Given the description of an element on the screen output the (x, y) to click on. 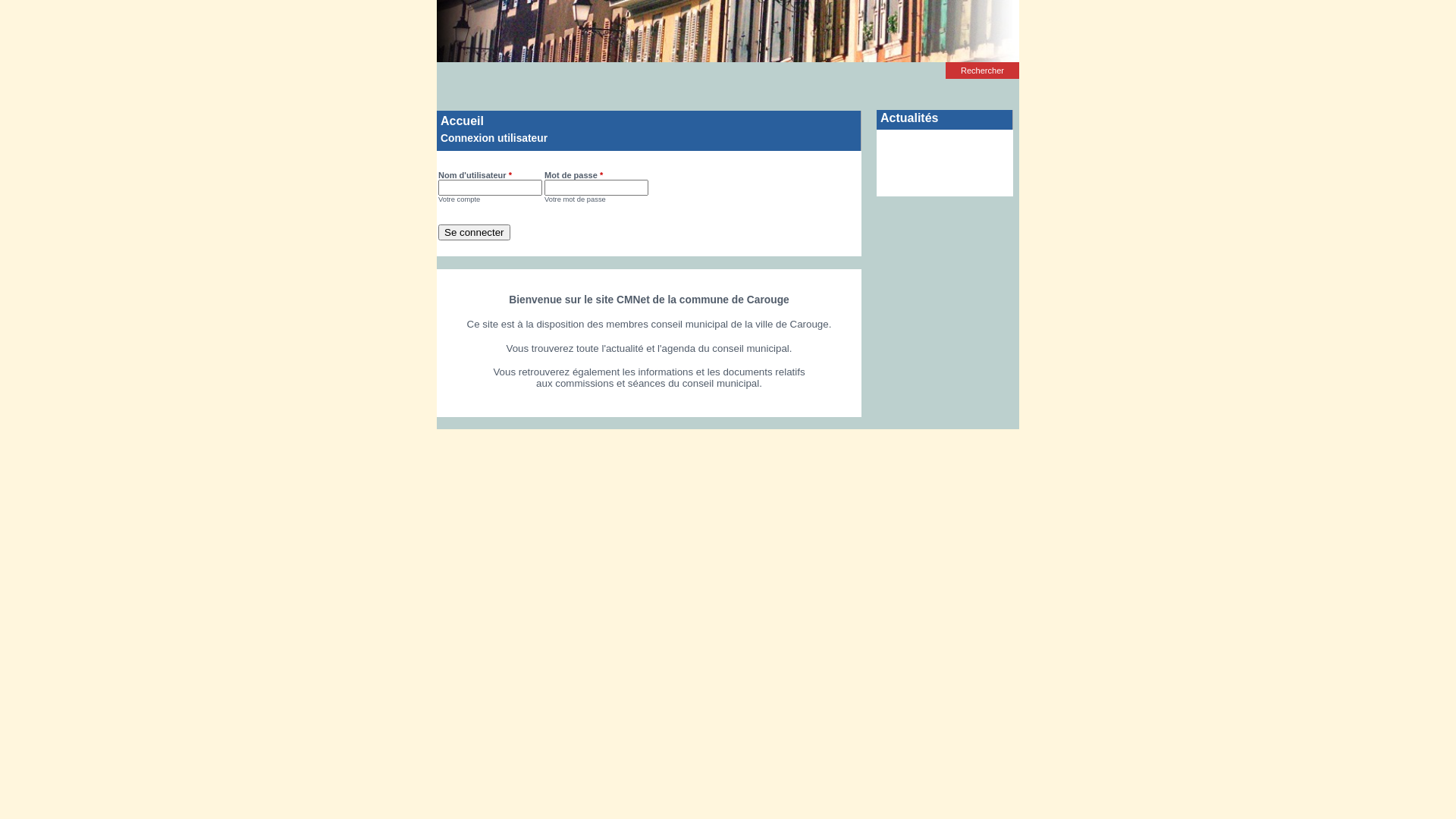
Rechercher Element type: text (982, 70)
Accueil Element type: hover (727, 31)
Se connecter Element type: text (474, 232)
